Given the description of an element on the screen output the (x, y) to click on. 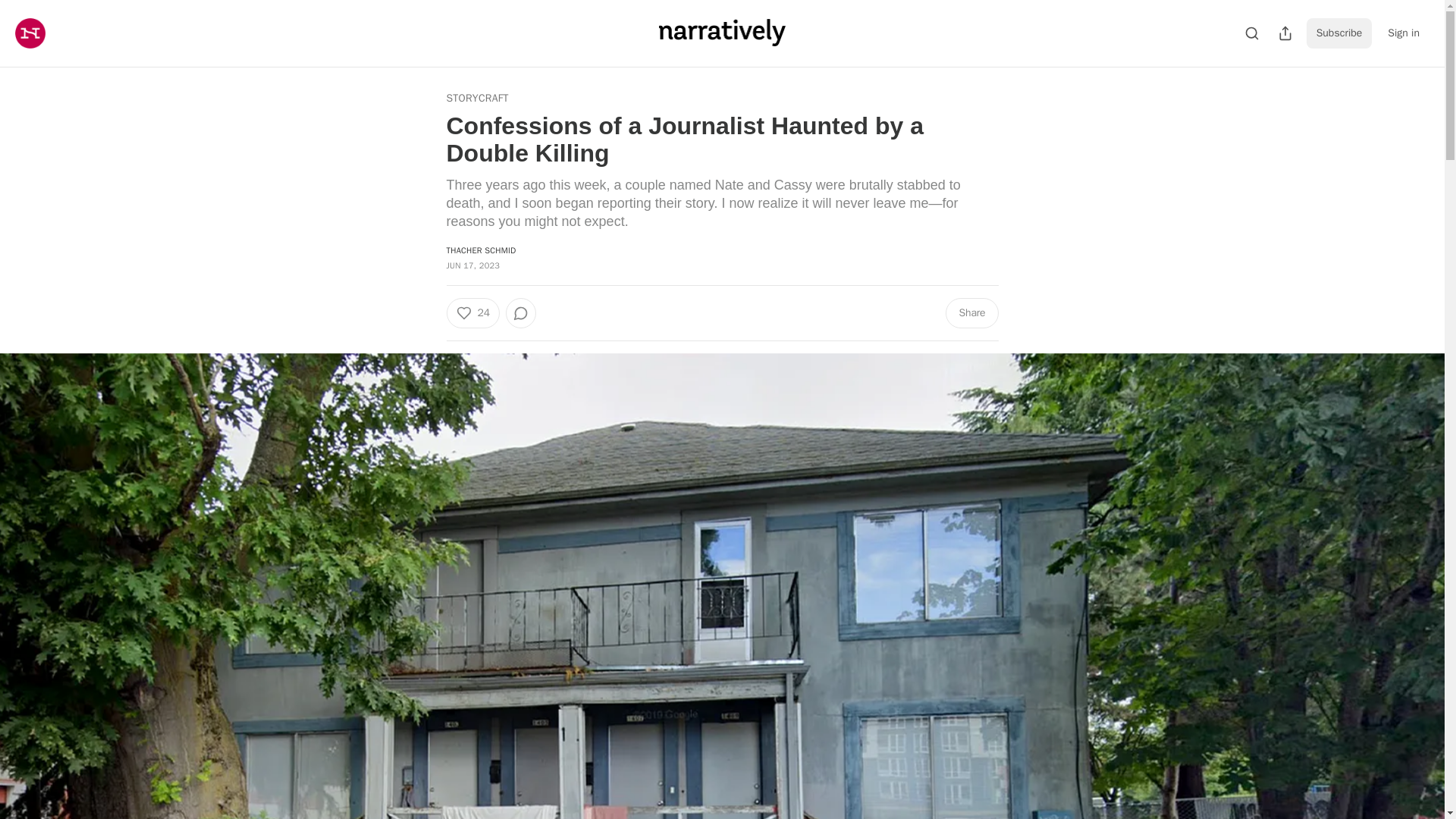
24 (472, 313)
Subscribe (1339, 33)
STORYCRAFT (476, 98)
THACHER SCHMID (480, 249)
Share (970, 313)
Sign in (1403, 33)
